Given the description of an element on the screen output the (x, y) to click on. 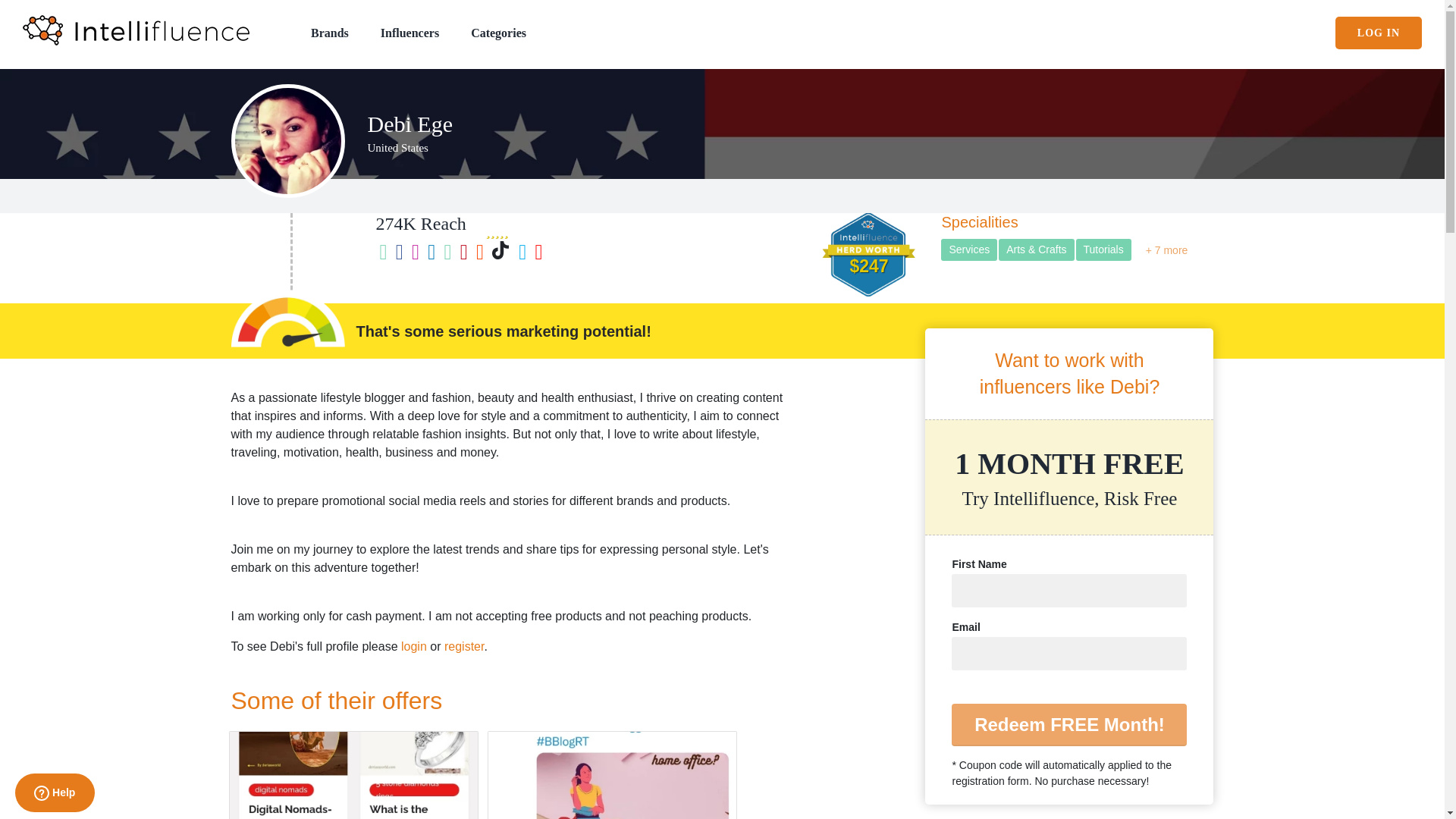
Tutorials (1103, 250)
LOG IN (1378, 31)
Services (968, 250)
Influencers (409, 31)
register (463, 645)
login (413, 645)
